Given the description of an element on the screen output the (x, y) to click on. 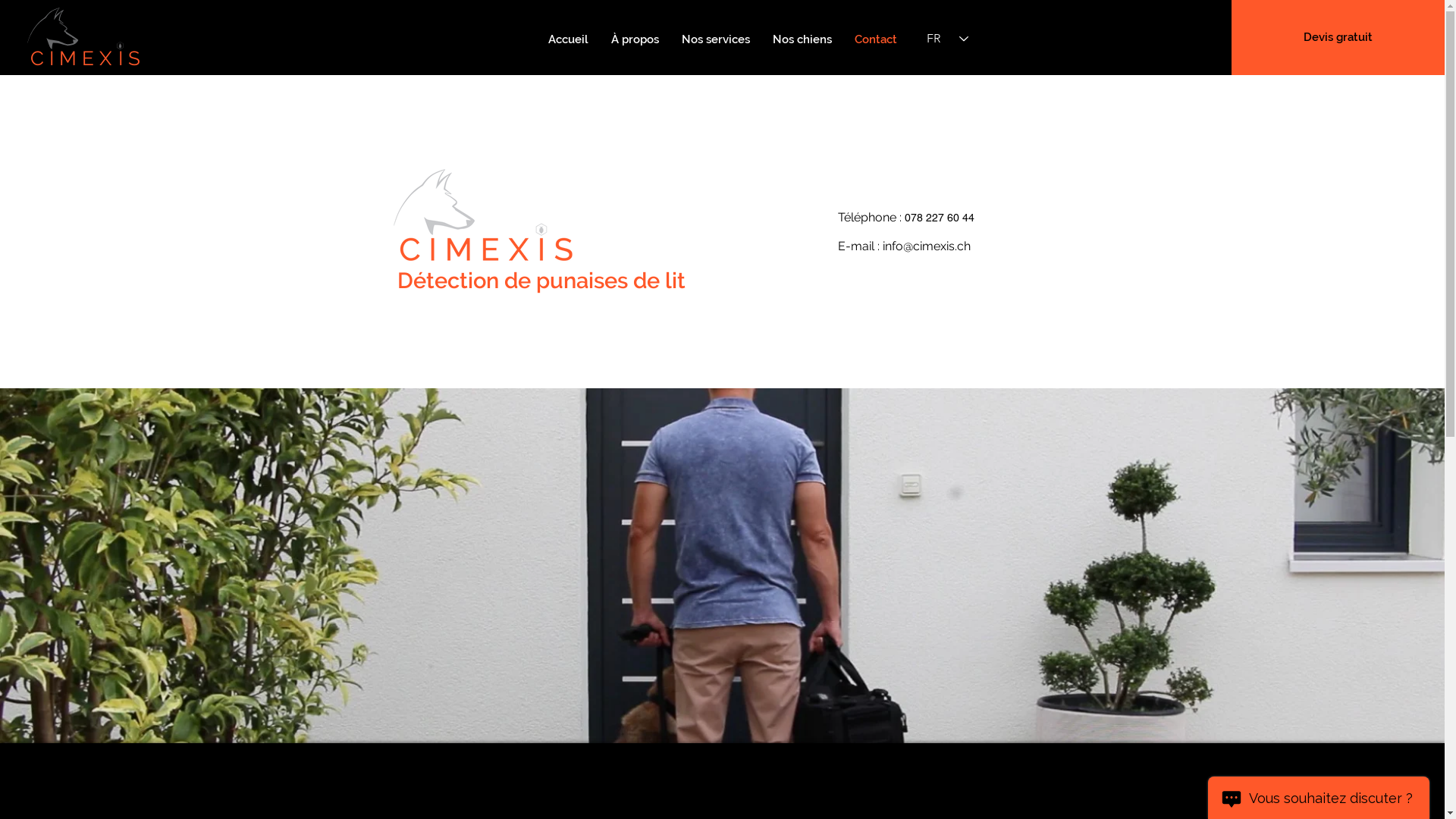
Nos services Element type: text (715, 39)
Devis gratuit Element type: text (1337, 37)
Contact Element type: text (875, 39)
Nos chiens Element type: text (802, 39)
C I M E X I S Element type: text (83, 38)
info@cimexis.ch Element type: text (926, 245)
Accueil Element type: text (567, 39)
